Given the description of an element on the screen output the (x, y) to click on. 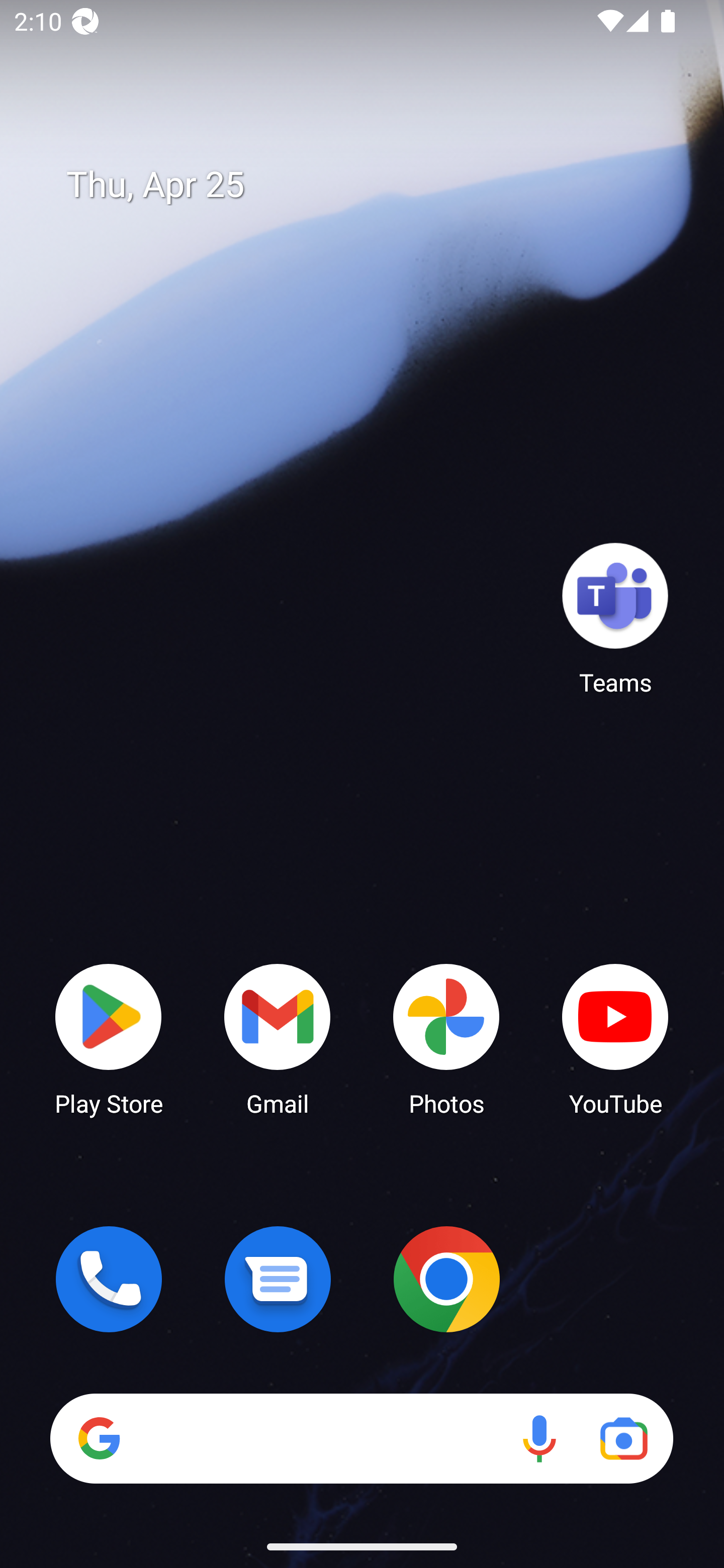
Thu, Apr 25 (375, 184)
Teams (615, 617)
Play Store (108, 1038)
Gmail (277, 1038)
Photos (445, 1038)
YouTube (615, 1038)
Phone (108, 1279)
Messages (277, 1279)
Chrome (446, 1279)
Search Voice search Google Lens (361, 1438)
Voice search (539, 1438)
Google Lens (623, 1438)
